Given the description of an element on the screen output the (x, y) to click on. 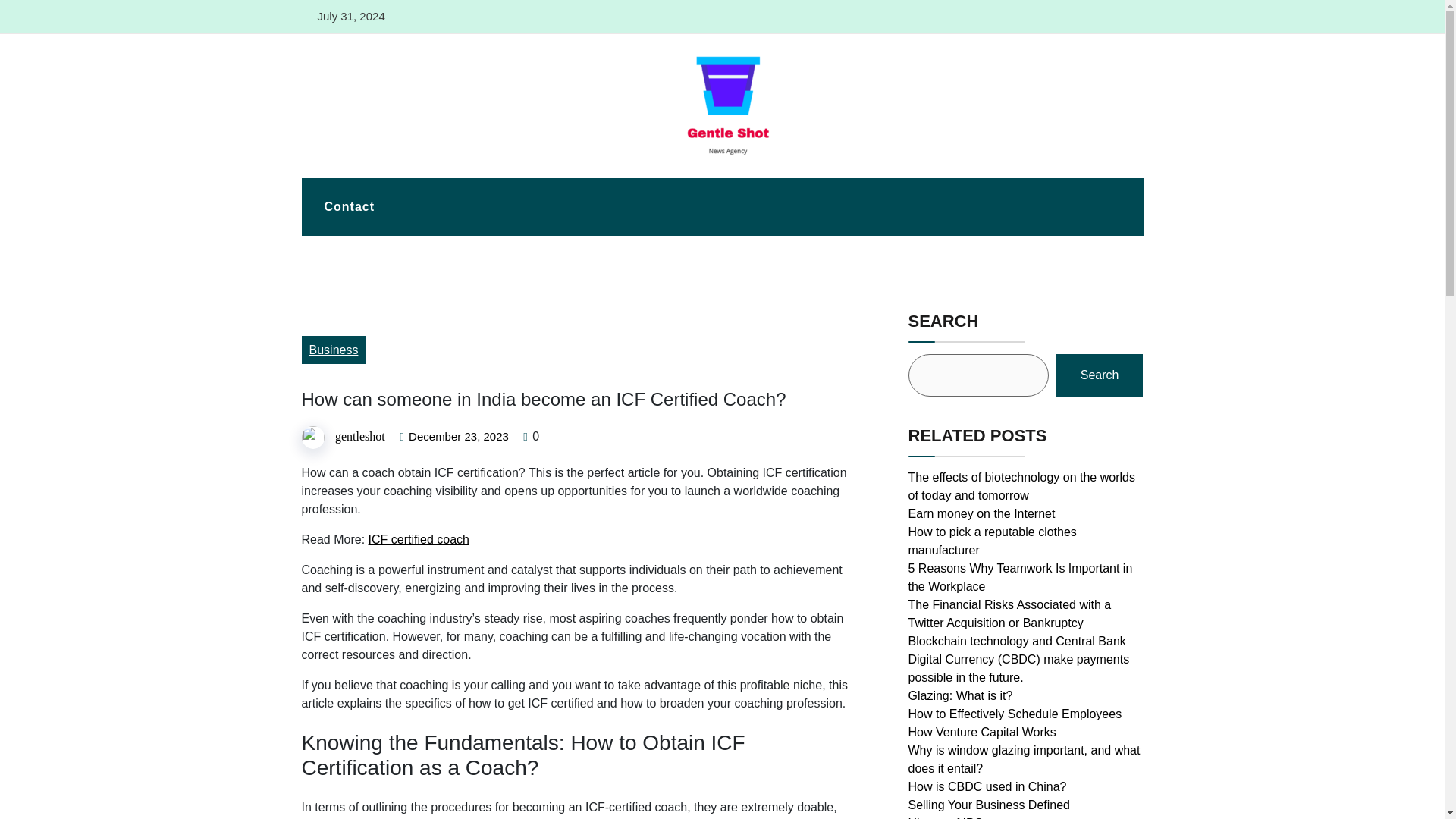
Business (333, 349)
December 23, 2023 (458, 436)
How is CBDC used in China? (987, 786)
Glazing: What is it? (960, 695)
How Venture Capital Works (982, 731)
Search (1099, 374)
Contact (349, 206)
History of IPOs (949, 817)
Gentle Shot (345, 170)
Why is window glazing important, and what does it entail? (1024, 758)
How to pick a reputable clothes manufacturer (992, 540)
gentleshot (359, 436)
ICF certified coach (418, 539)
